Given the description of an element on the screen output the (x, y) to click on. 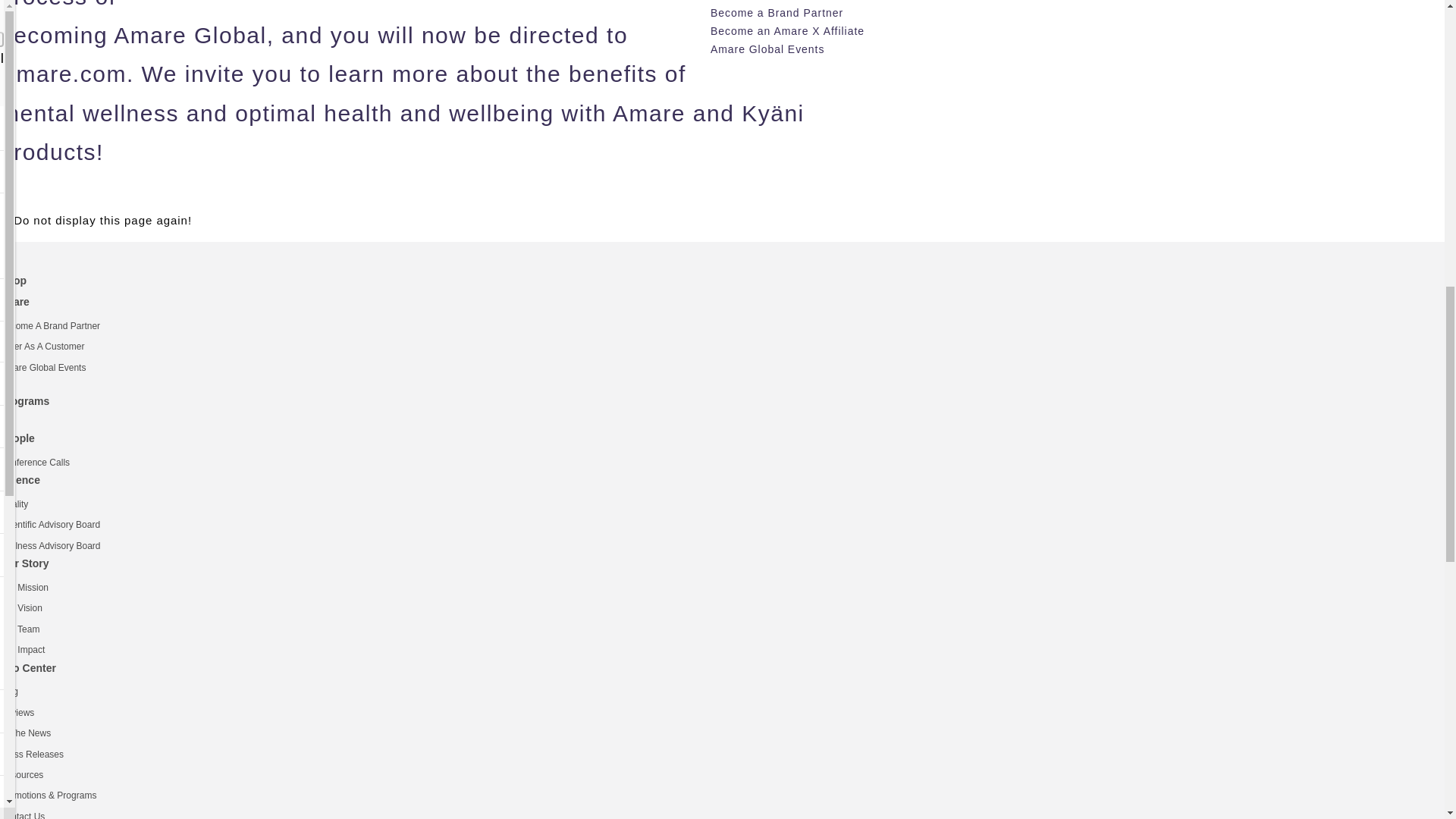
on (5, 219)
